Given the description of an element on the screen output the (x, y) to click on. 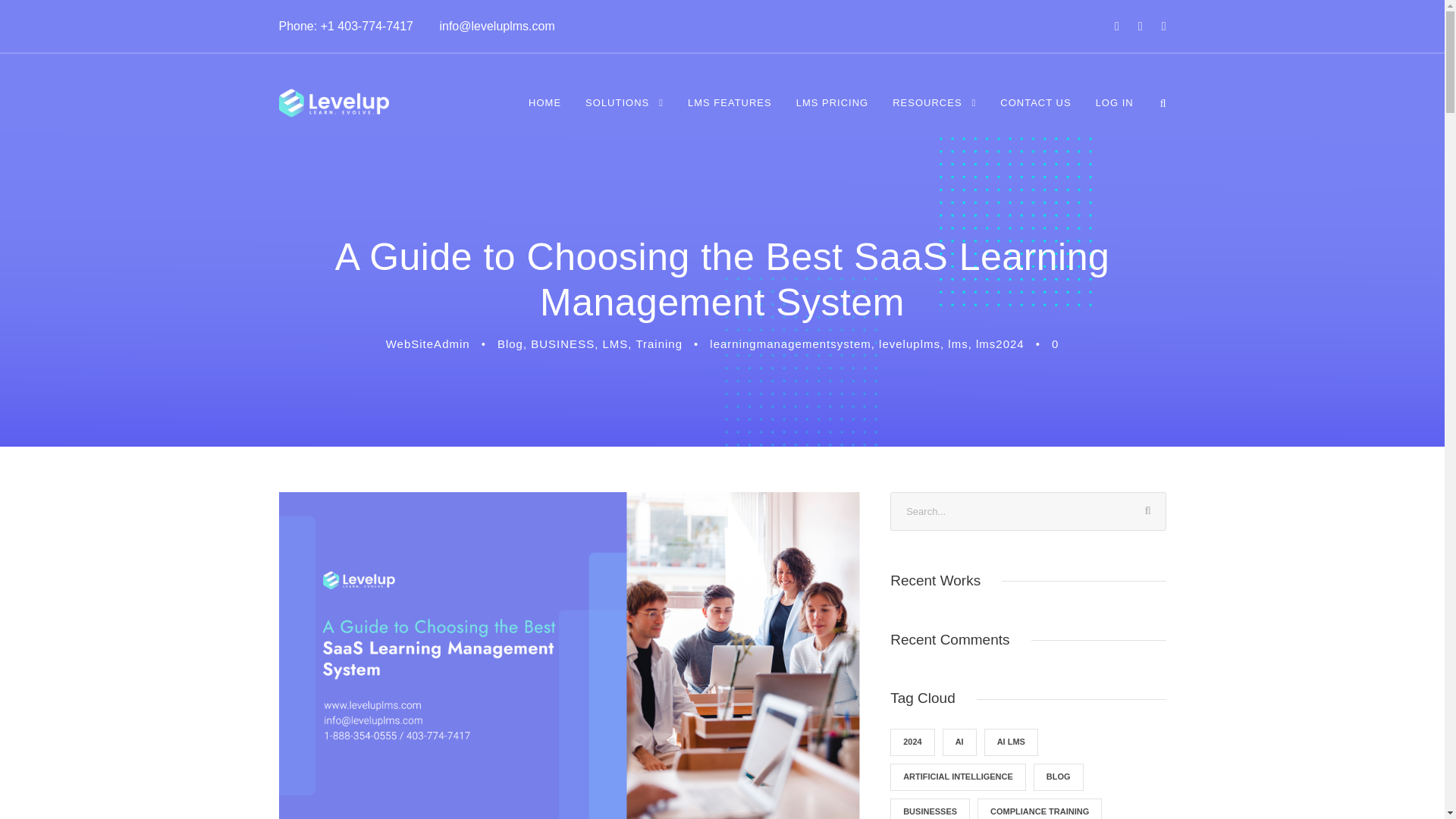
lms2024 (1000, 343)
LOG IN (1115, 113)
lms (957, 343)
learningmanagementsystem (790, 343)
Levelup LMS Logo White (333, 102)
WebSiteAdmin (427, 343)
leveluplms (909, 343)
LMS FEATURES (729, 113)
BUSINESS (562, 343)
CONTACT US (1035, 113)
